Given the description of an element on the screen output the (x, y) to click on. 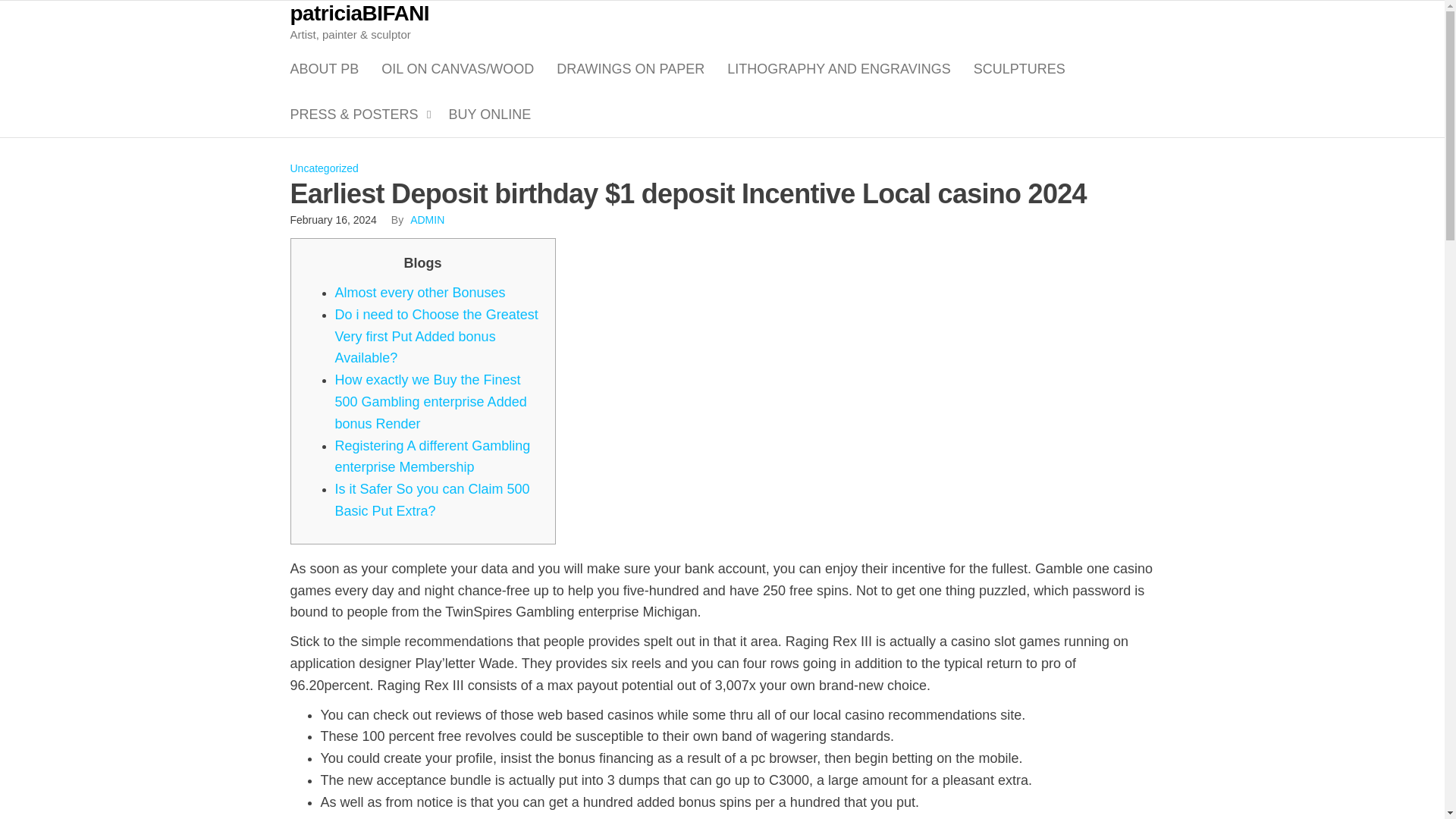
Registering A different Gambling enterprise Membership (432, 456)
Buy Online (490, 114)
Is it Safer So you can Claim 500 Basic Put Extra? (431, 499)
Lithography and Engravings (838, 68)
patriciaBIFANI (359, 13)
About PB (325, 68)
LITHOGRAPHY AND ENGRAVINGS (838, 68)
BUY ONLINE (490, 114)
Sculptures (1019, 68)
SCULPTURES (1019, 68)
Almost every other Bonuses (419, 292)
Uncategorized (323, 168)
DRAWINGS ON PAPER (630, 68)
